Given the description of an element on the screen output the (x, y) to click on. 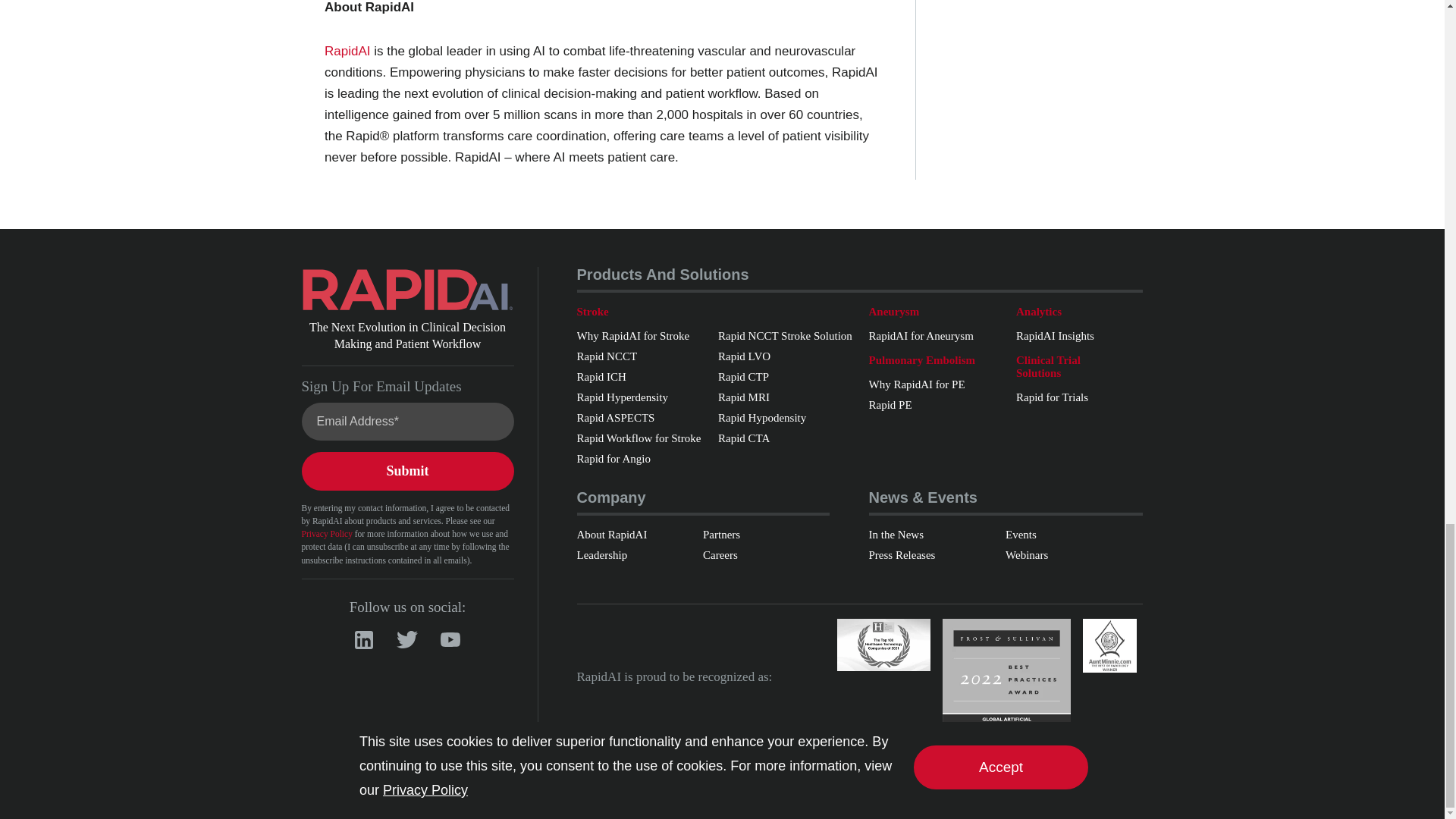
Submit (407, 471)
